Given the description of an element on the screen output the (x, y) to click on. 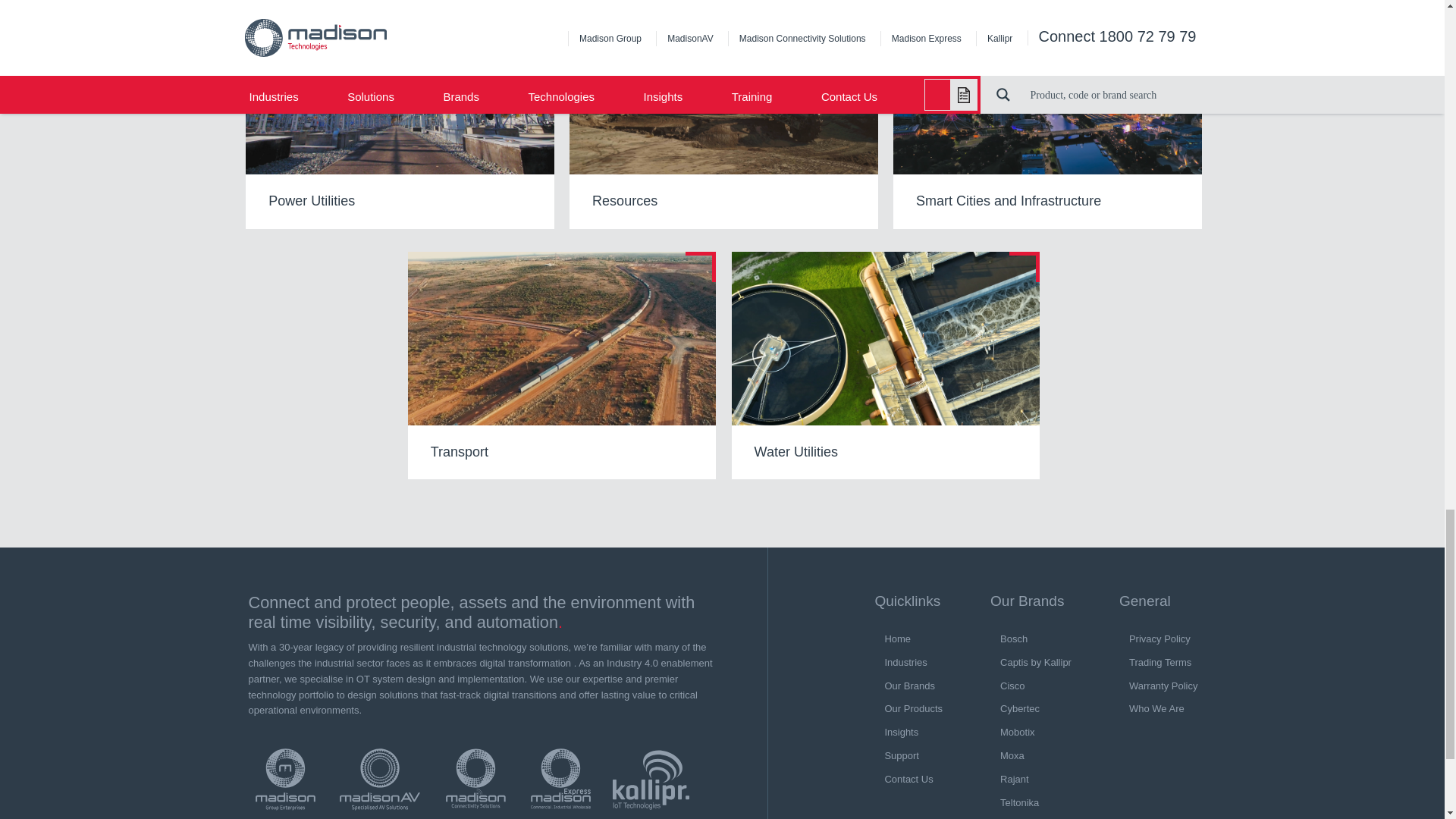
Water Utilities (886, 365)
Kallipr (651, 779)
Madison Group Enterprises (284, 779)
Transport (561, 365)
Madison Connectivity Solutions (475, 779)
Power Utilities (400, 114)
MadisonAV (379, 779)
Resources (723, 114)
Madison Express (560, 779)
Smart Cities and Infrastructure (1047, 114)
